Given the description of an element on the screen output the (x, y) to click on. 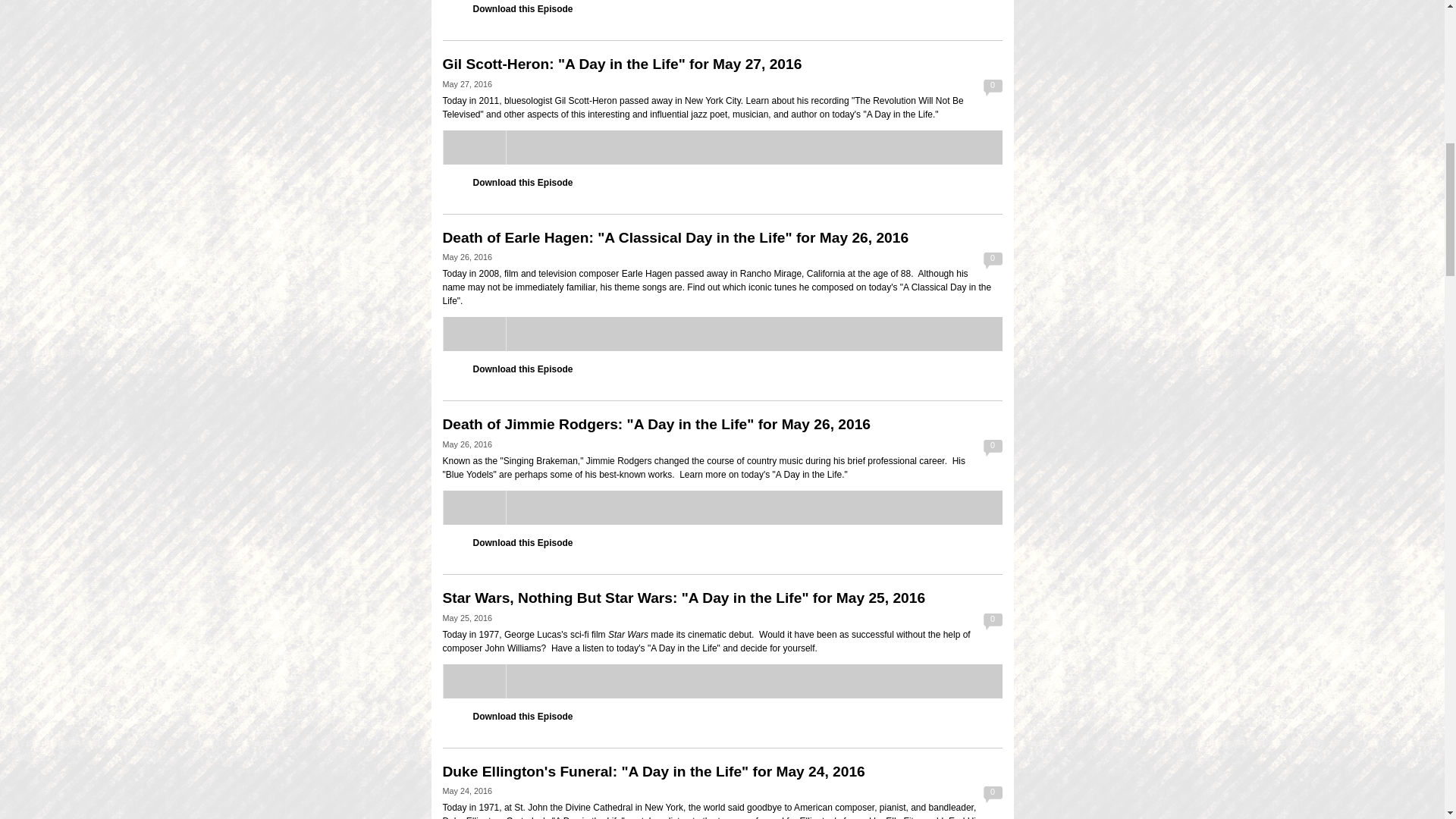
Libsyn Player (722, 333)
Libsyn Player (722, 681)
Libsyn Player (722, 147)
Libsyn Player (722, 507)
